Given the description of an element on the screen output the (x, y) to click on. 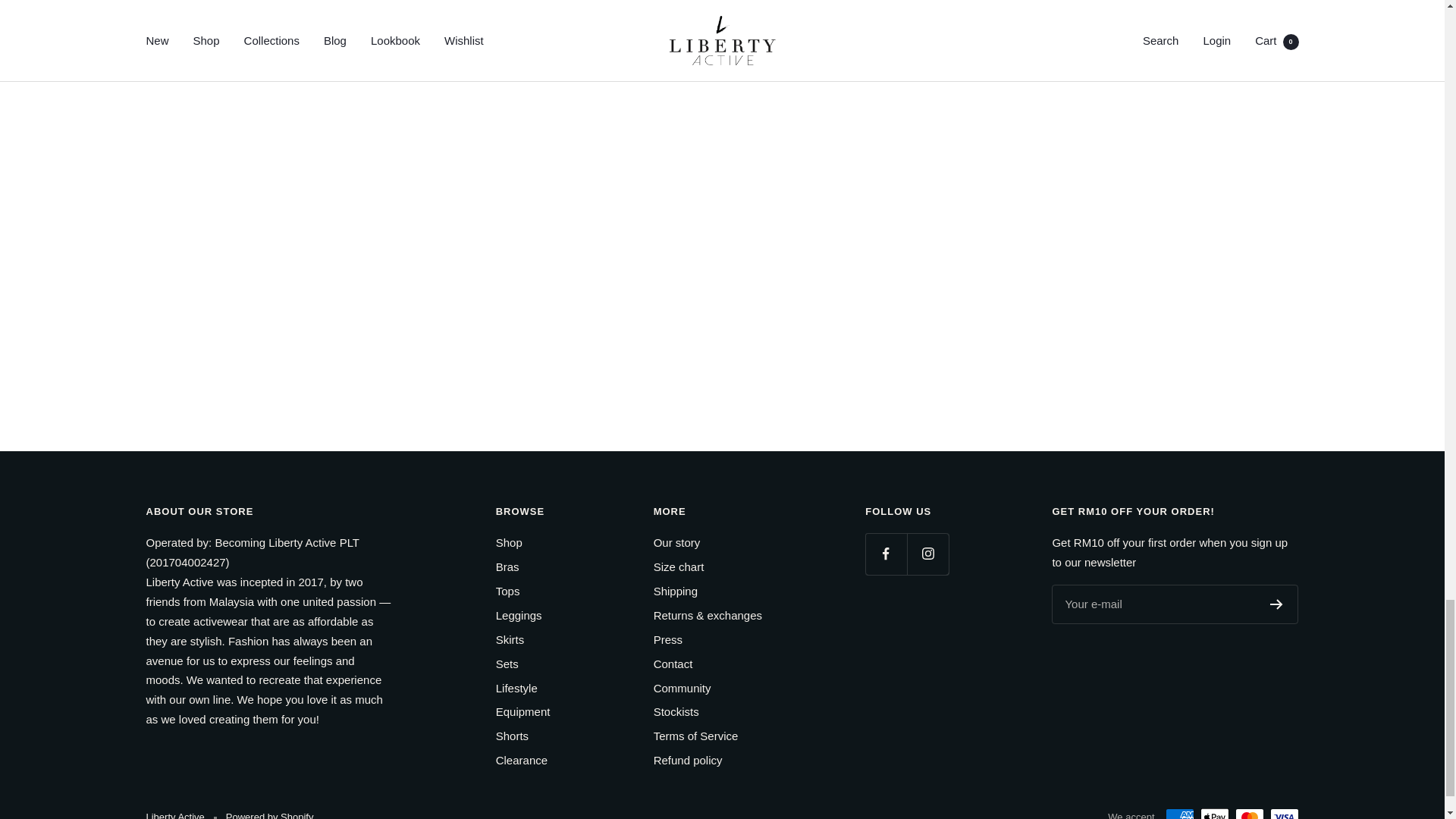
Register (1275, 603)
Leggings (518, 615)
Shop (509, 542)
Tops (507, 591)
Bras (507, 567)
Skirts (510, 639)
Sets (507, 664)
